Given the description of an element on the screen output the (x, y) to click on. 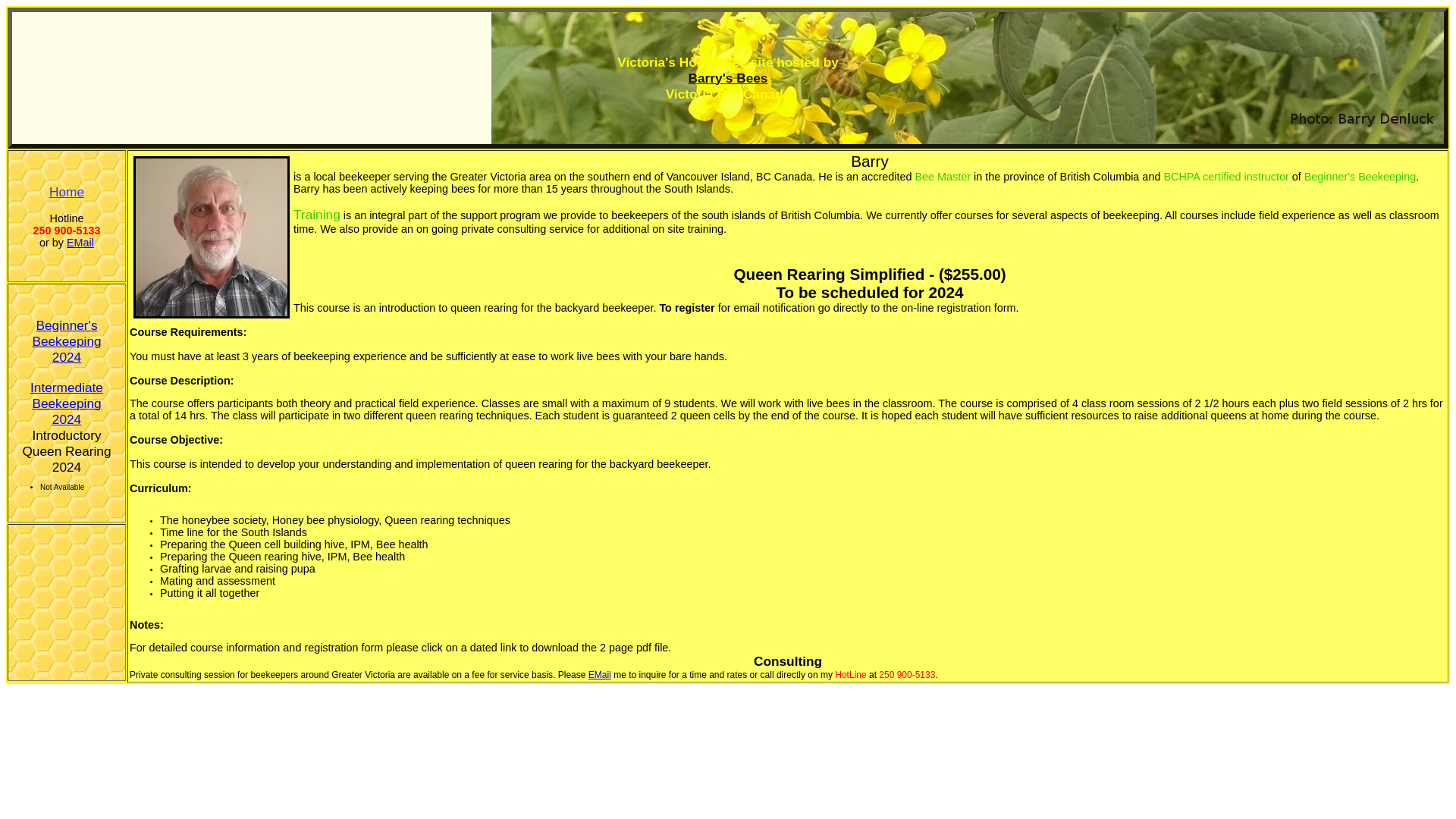
EMail Element type: text (80, 242)
Beginner's
Beekeeping
2024 Element type: text (65, 340)
Barry's Bees Element type: text (728, 76)
Home Element type: text (66, 191)
Intermediate
Beekeeping
2024 Element type: text (66, 405)
EMail Element type: text (599, 674)
